Given the description of an element on the screen output the (x, y) to click on. 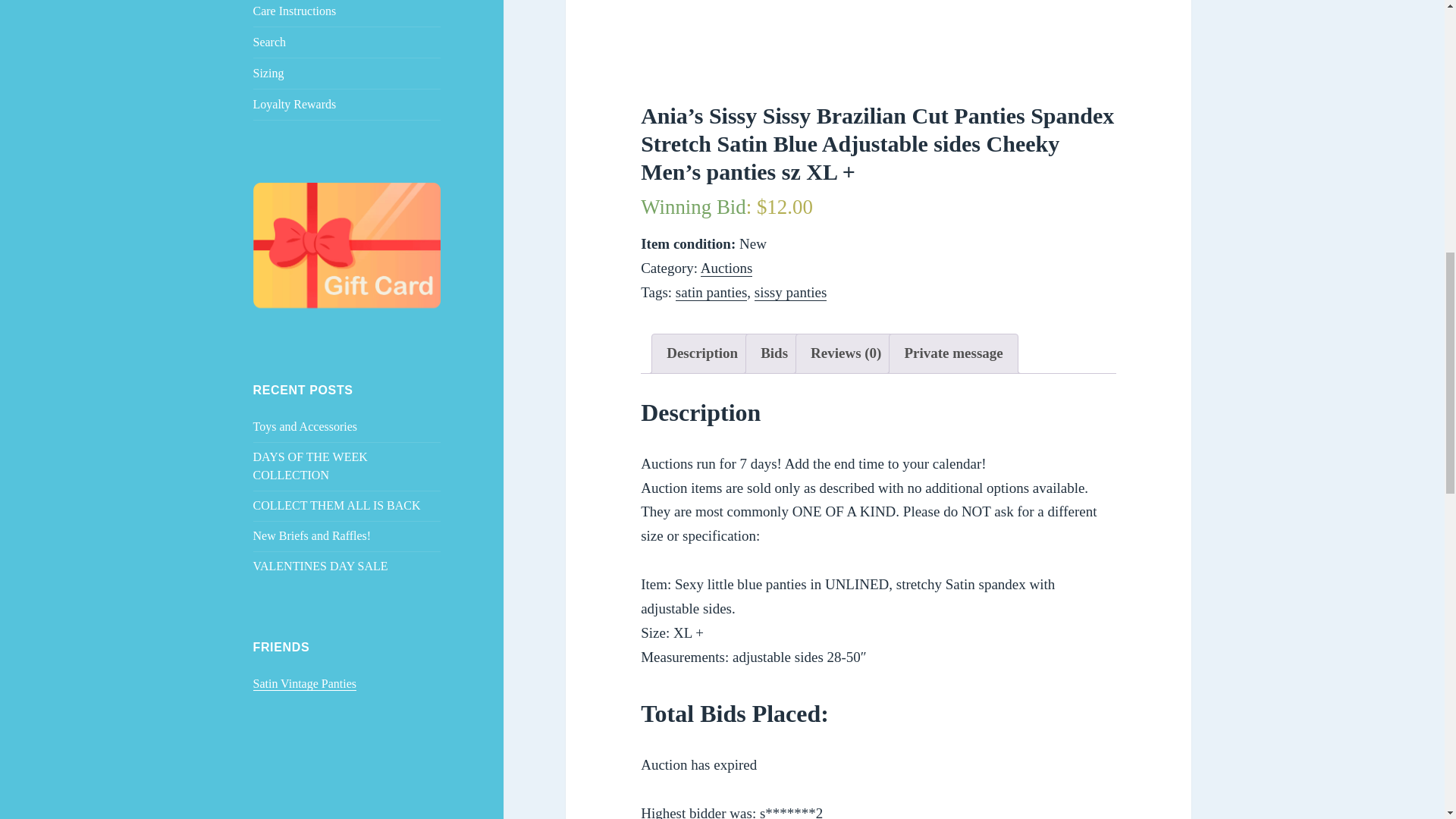
COLLECT THEM ALL IS BACK (336, 504)
Care Instructions (347, 13)
New Briefs and Raffles! (312, 535)
Satin Vintage Panties (304, 684)
Loyalty Rewards (347, 104)
Sizing (347, 73)
Search (347, 42)
VALENTINES DAY SALE (320, 565)
DAYS OF THE WEEK COLLECTION (310, 465)
Toys and Accessories (305, 426)
